Given the description of an element on the screen output the (x, y) to click on. 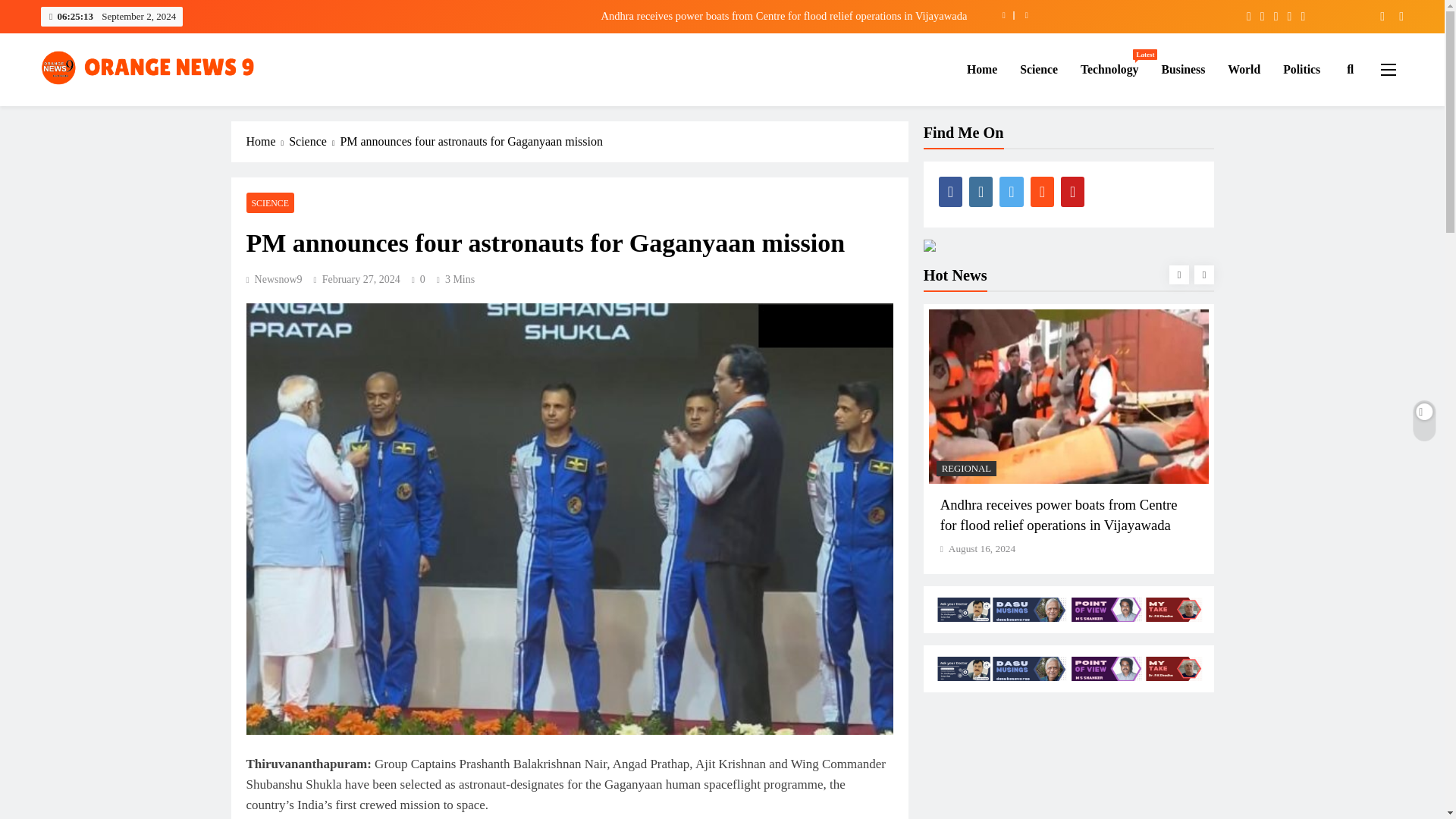
Politics (1301, 69)
Science (1038, 69)
OrangeNews9 (111, 107)
Business (1109, 69)
Home (1182, 69)
World (982, 69)
